Given the description of an element on the screen output the (x, y) to click on. 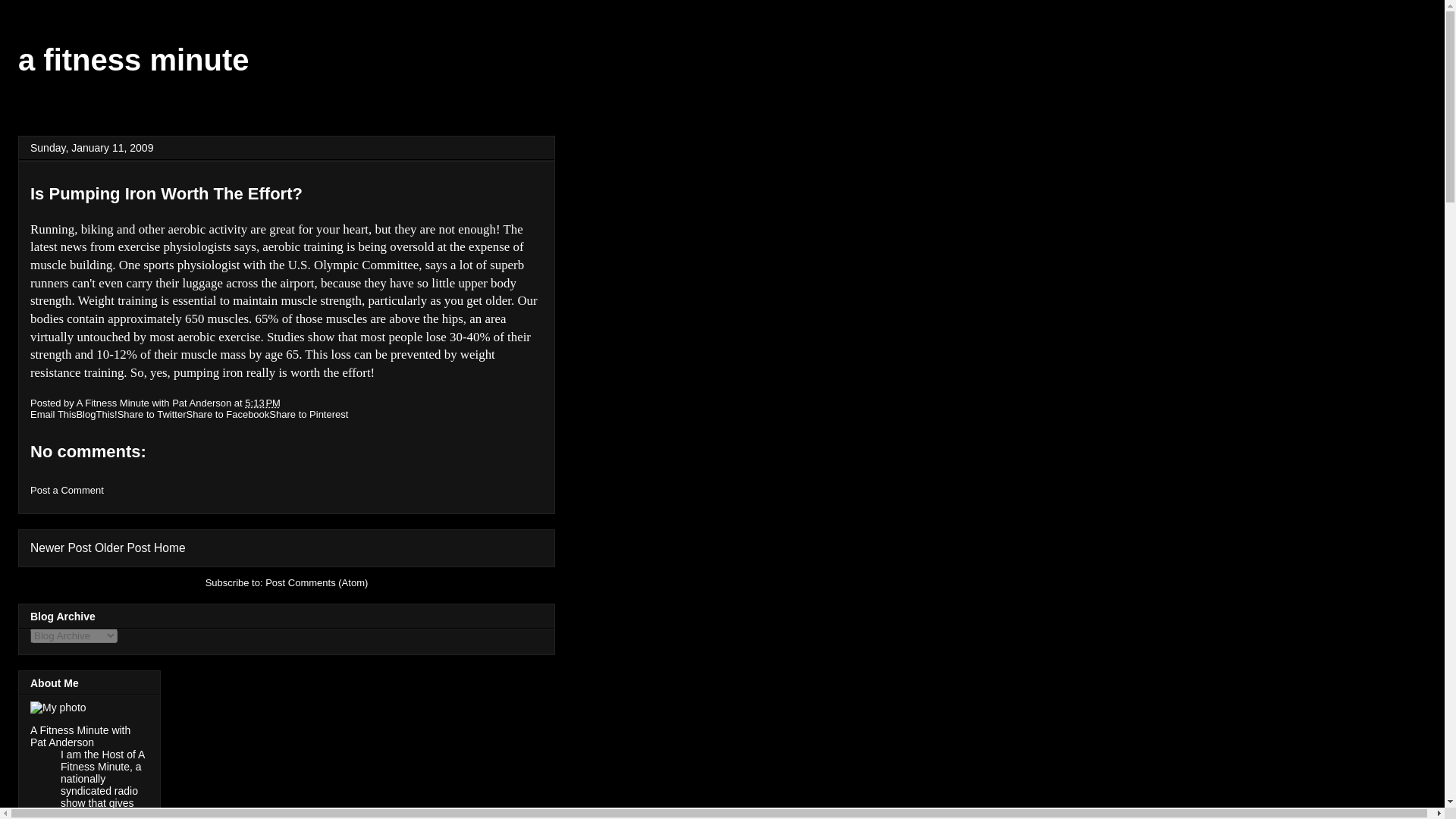
Share to Facebook (227, 414)
a fitness minute (132, 59)
Email Post (290, 402)
Share to Facebook (227, 414)
Email This (52, 414)
A Fitness Minute with Pat Anderson (155, 402)
Older Post (122, 547)
Share to Twitter (151, 414)
BlogThis! (95, 414)
Newer Post (60, 547)
author profile (155, 402)
Newer Post (60, 547)
Share to Pinterest (308, 414)
Share to Twitter (151, 414)
